Given the description of an element on the screen output the (x, y) to click on. 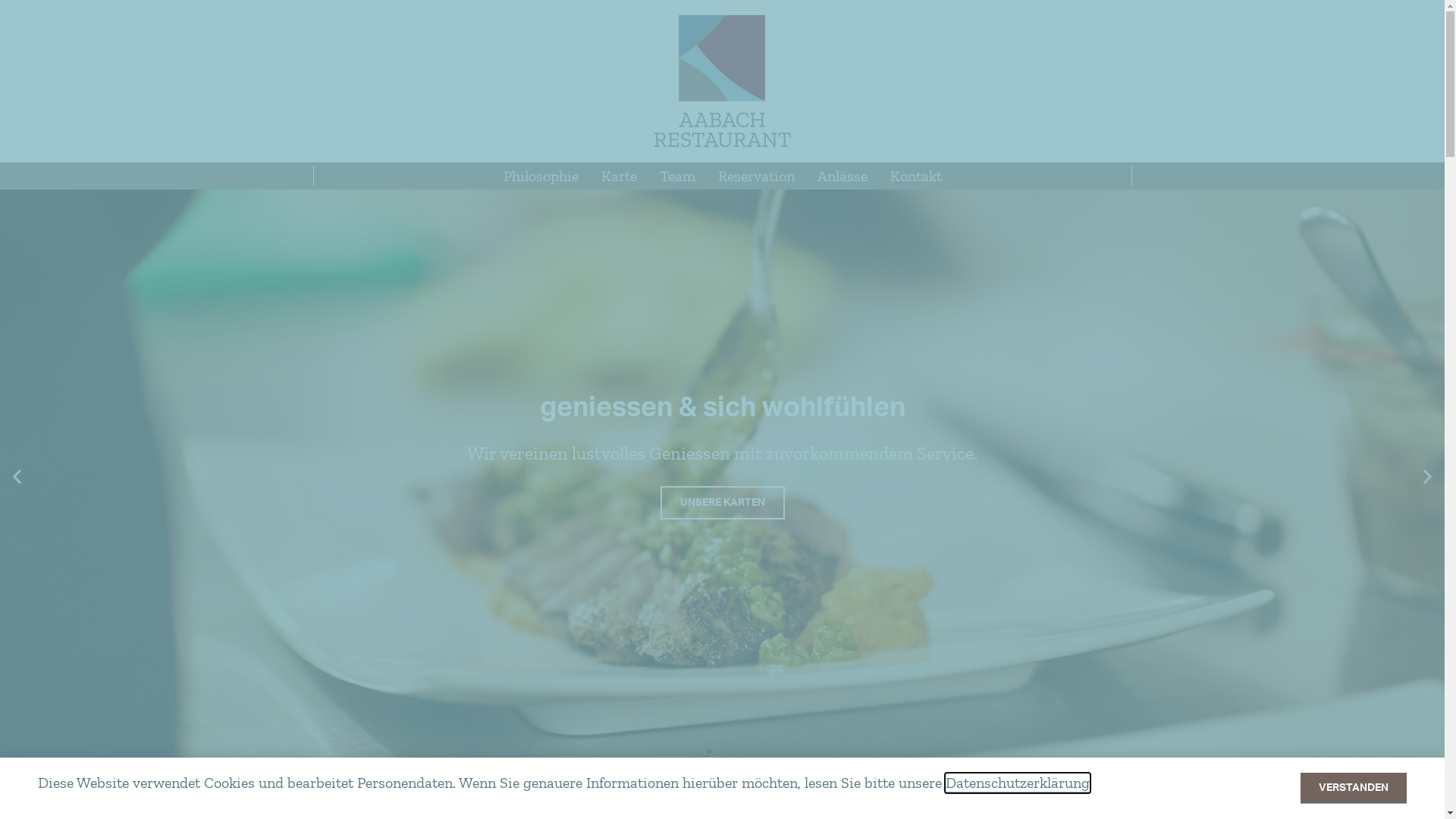
Team Element type: text (676, 175)
Kontakt Element type: text (915, 175)
Philosophie Element type: text (540, 175)
VERSTANDEN Element type: text (1353, 787)
Reservation Element type: text (756, 175)
Karte Element type: text (618, 175)
